Given the description of an element on the screen output the (x, y) to click on. 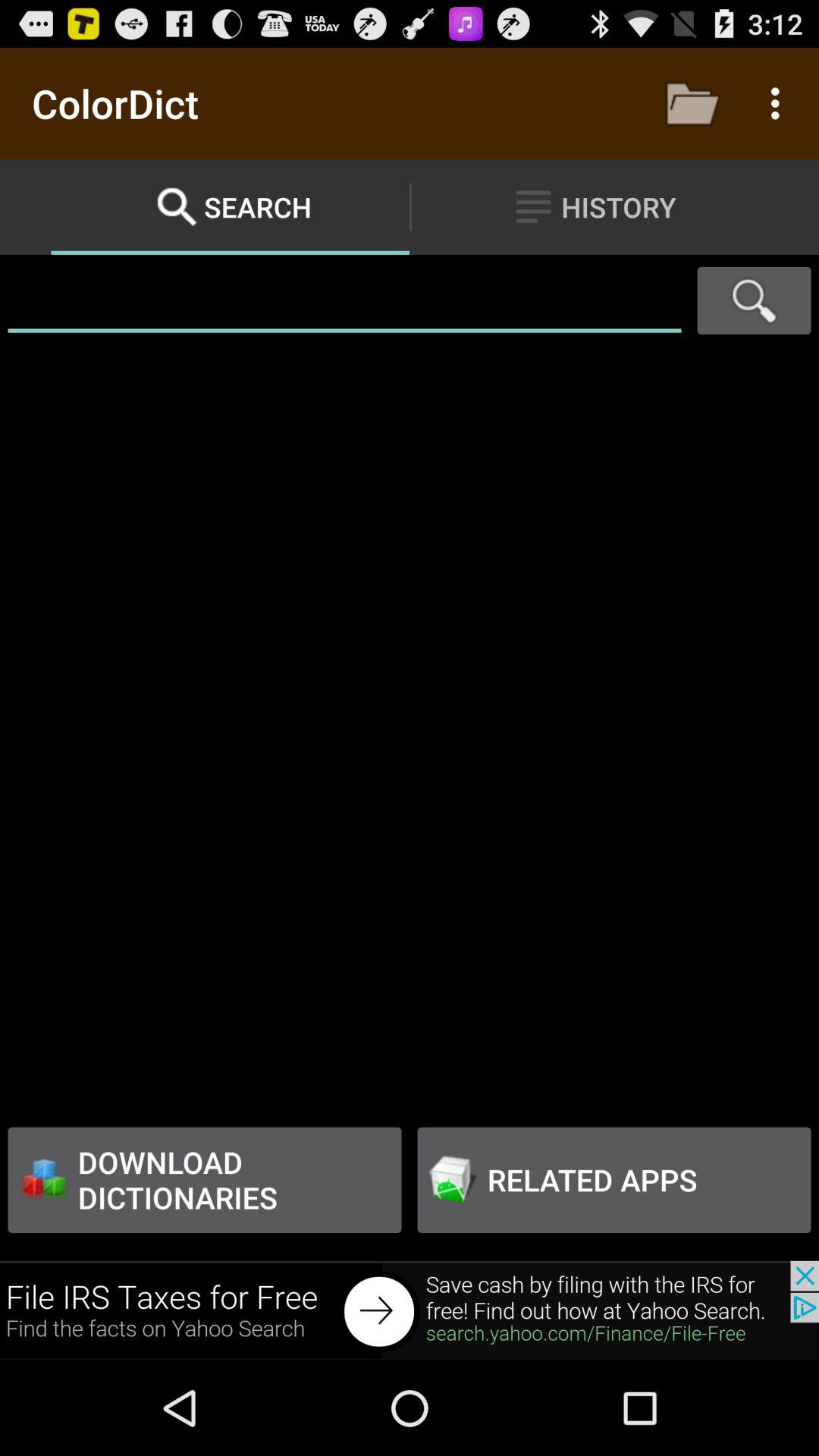
search the name (344, 300)
